Given the description of an element on the screen output the (x, y) to click on. 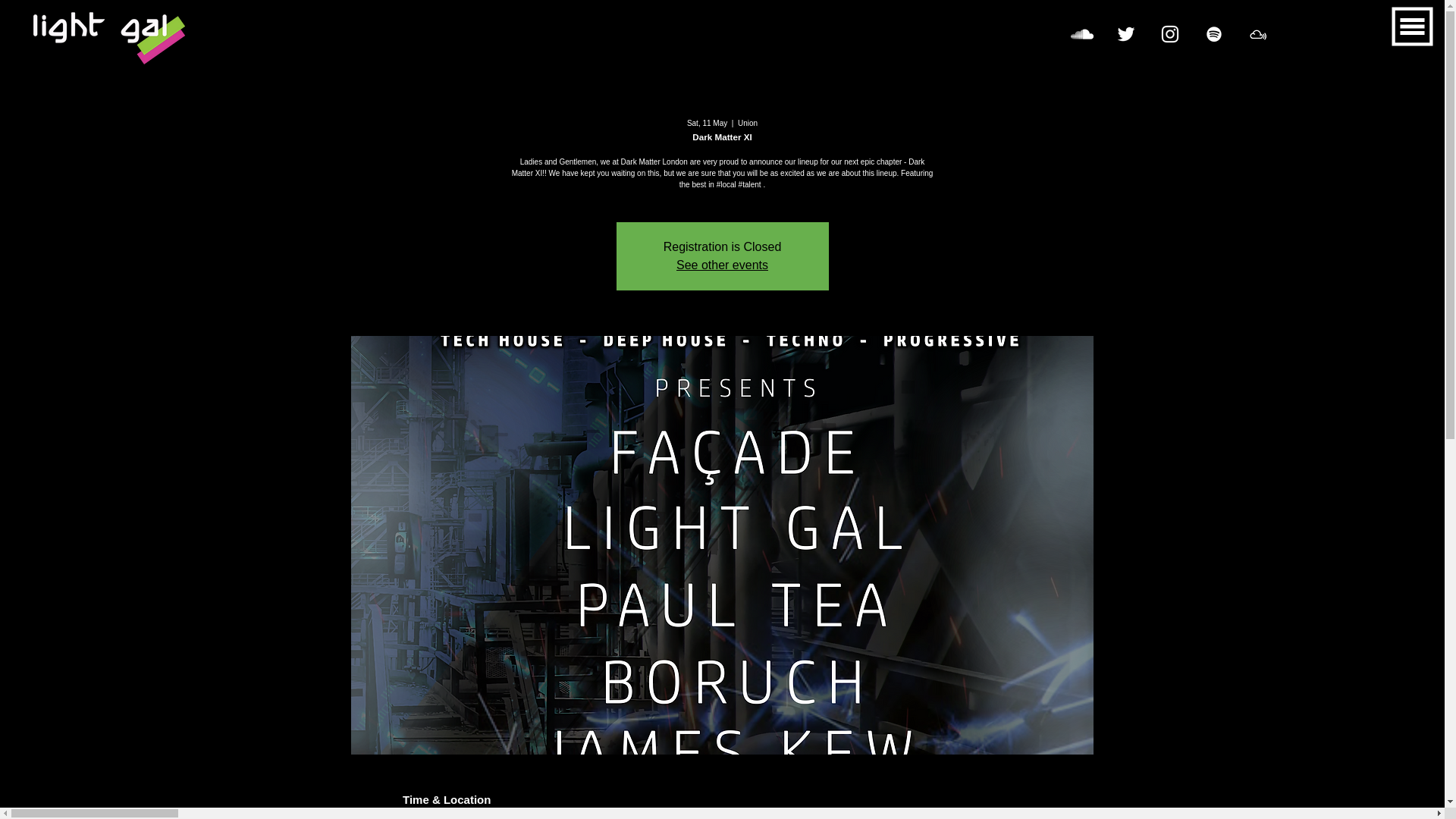
See other events (722, 264)
